Given the description of an element on the screen output the (x, y) to click on. 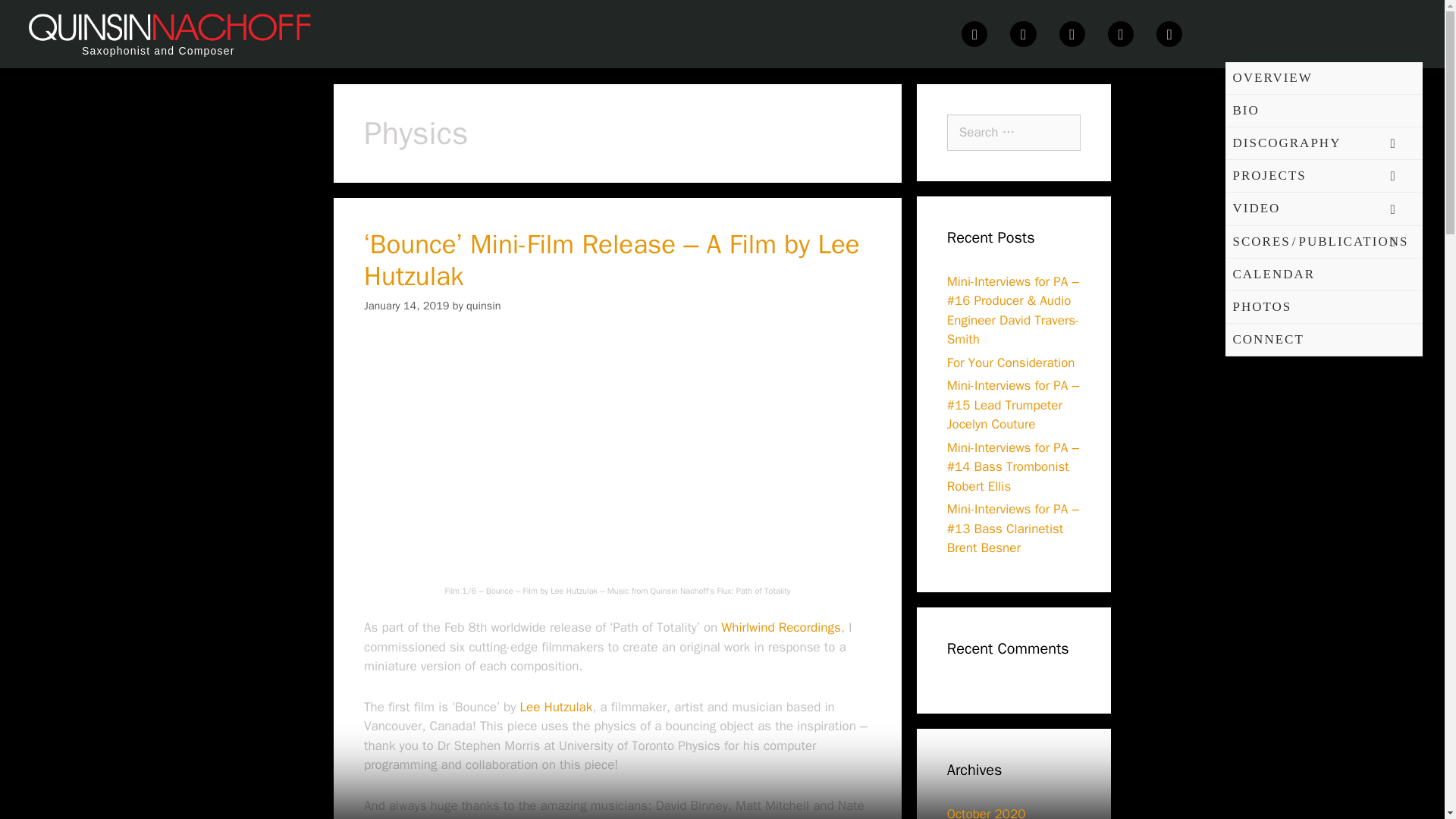
PHOTOS (1323, 307)
View all posts by quinsin (482, 305)
BIO (1323, 111)
PROJECTS (1323, 175)
CALENDAR (1323, 274)
VIDEO (1323, 208)
DISCOGRAPHY (1323, 143)
OVERVIEW (1323, 78)
Search for: (1013, 132)
CONNECT (1323, 339)
